Given the description of an element on the screen output the (x, y) to click on. 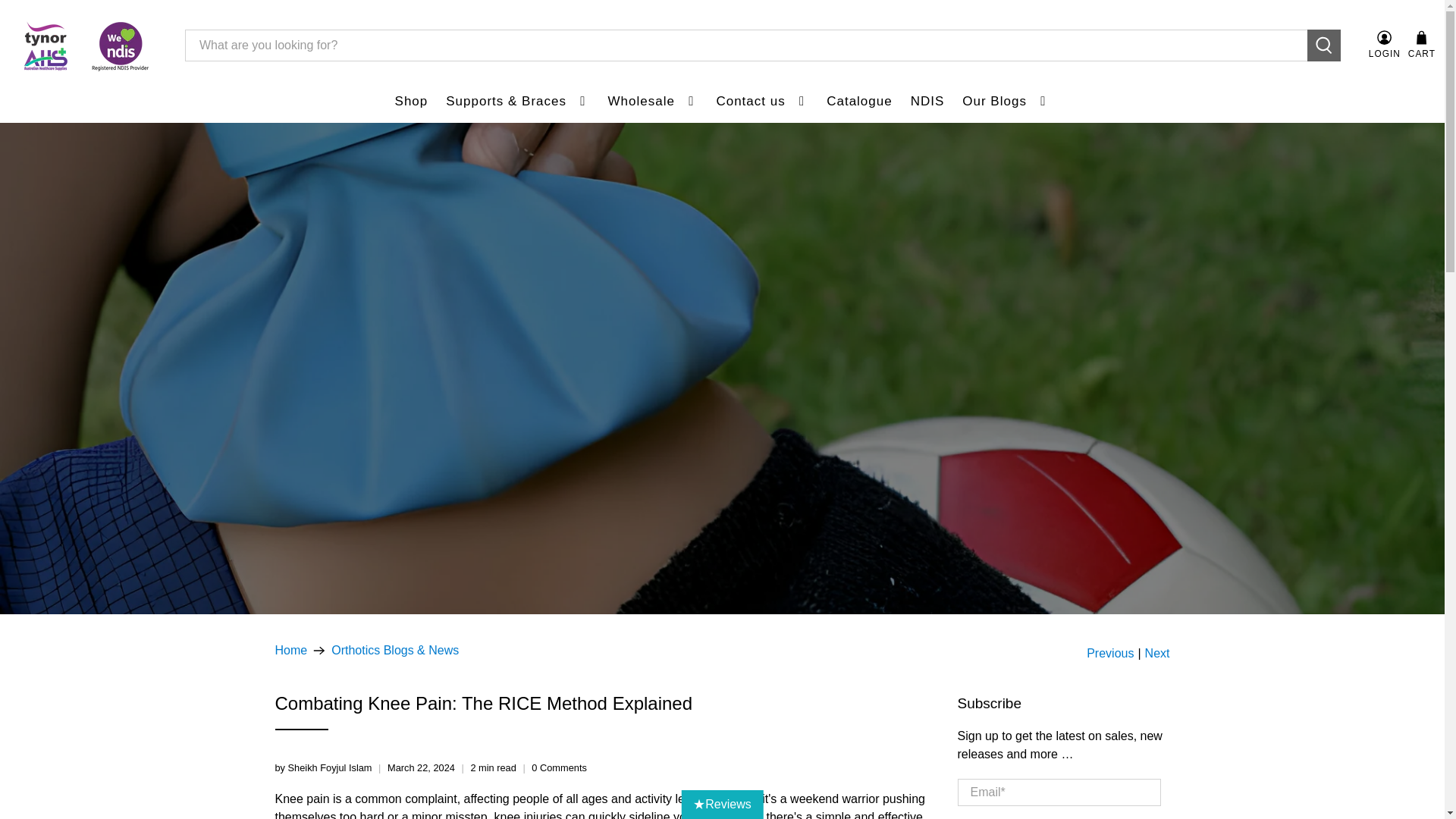
Shop (411, 101)
Previous (1110, 653)
NDIS (927, 101)
Our Blogs (1005, 101)
Wholesale (652, 101)
Contact us (761, 101)
Tynor Australia (291, 650)
Catalogue (858, 101)
Next (1157, 653)
Tynor Australia (84, 45)
